Given the description of an element on the screen output the (x, y) to click on. 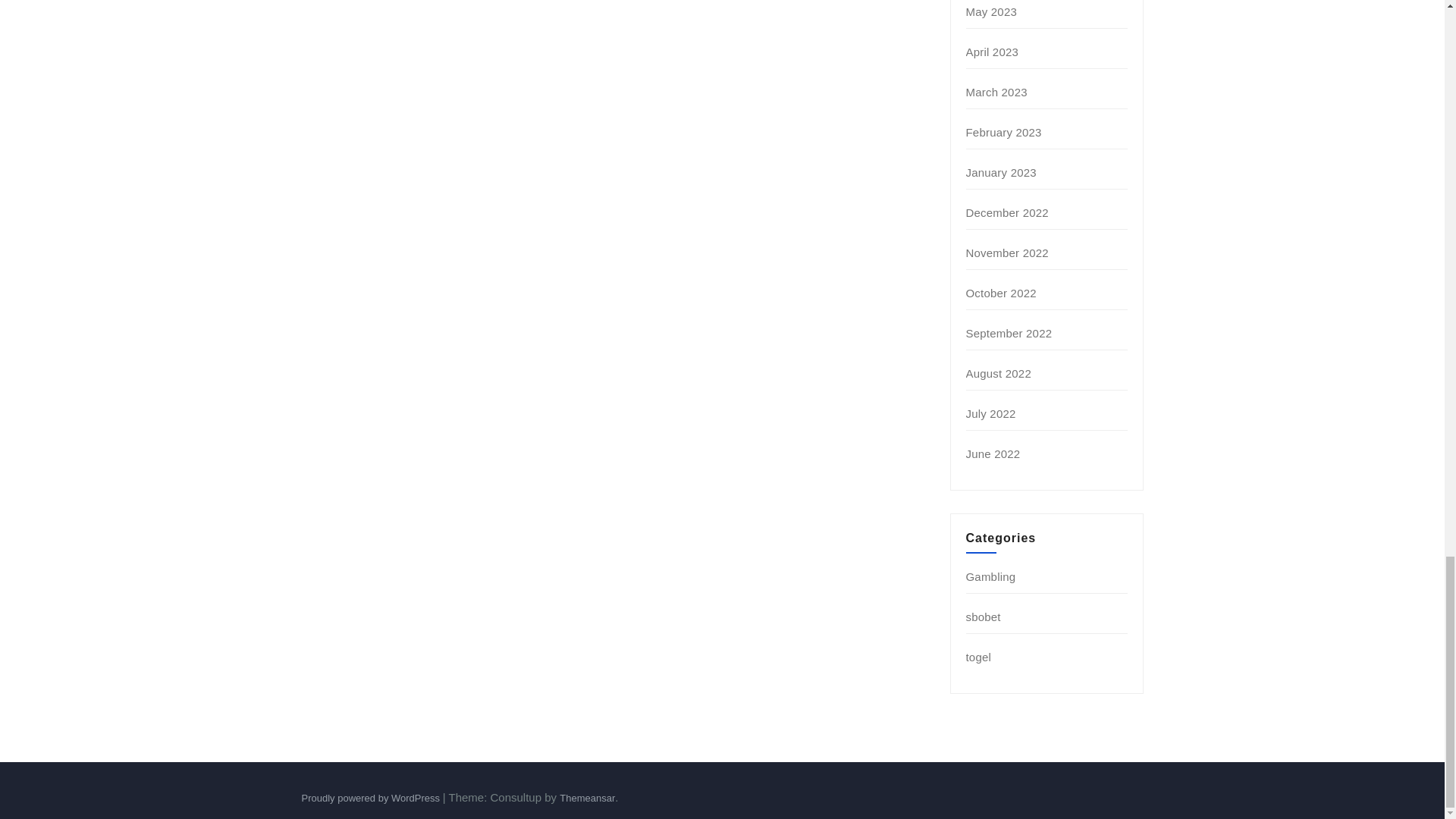
January 2023 (1001, 172)
April 2023 (992, 51)
May 2023 (991, 11)
March 2023 (996, 91)
October 2022 (1001, 292)
November 2022 (1007, 252)
December 2022 (1007, 212)
February 2023 (1004, 132)
